Given the description of an element on the screen output the (x, y) to click on. 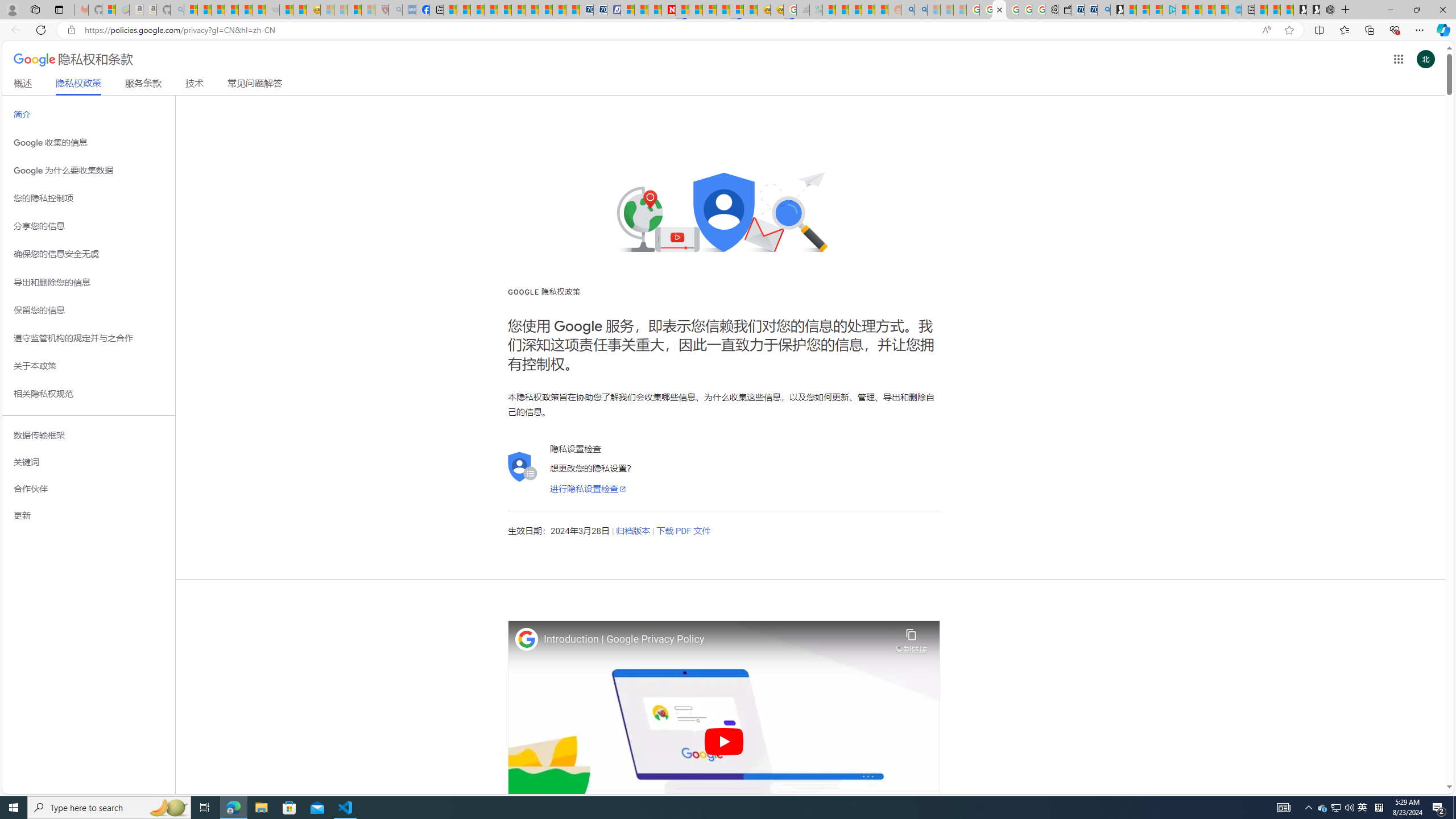
Student Loan Update: Forgiveness Program Ends This Month (868, 9)
